Given the description of an element on the screen output the (x, y) to click on. 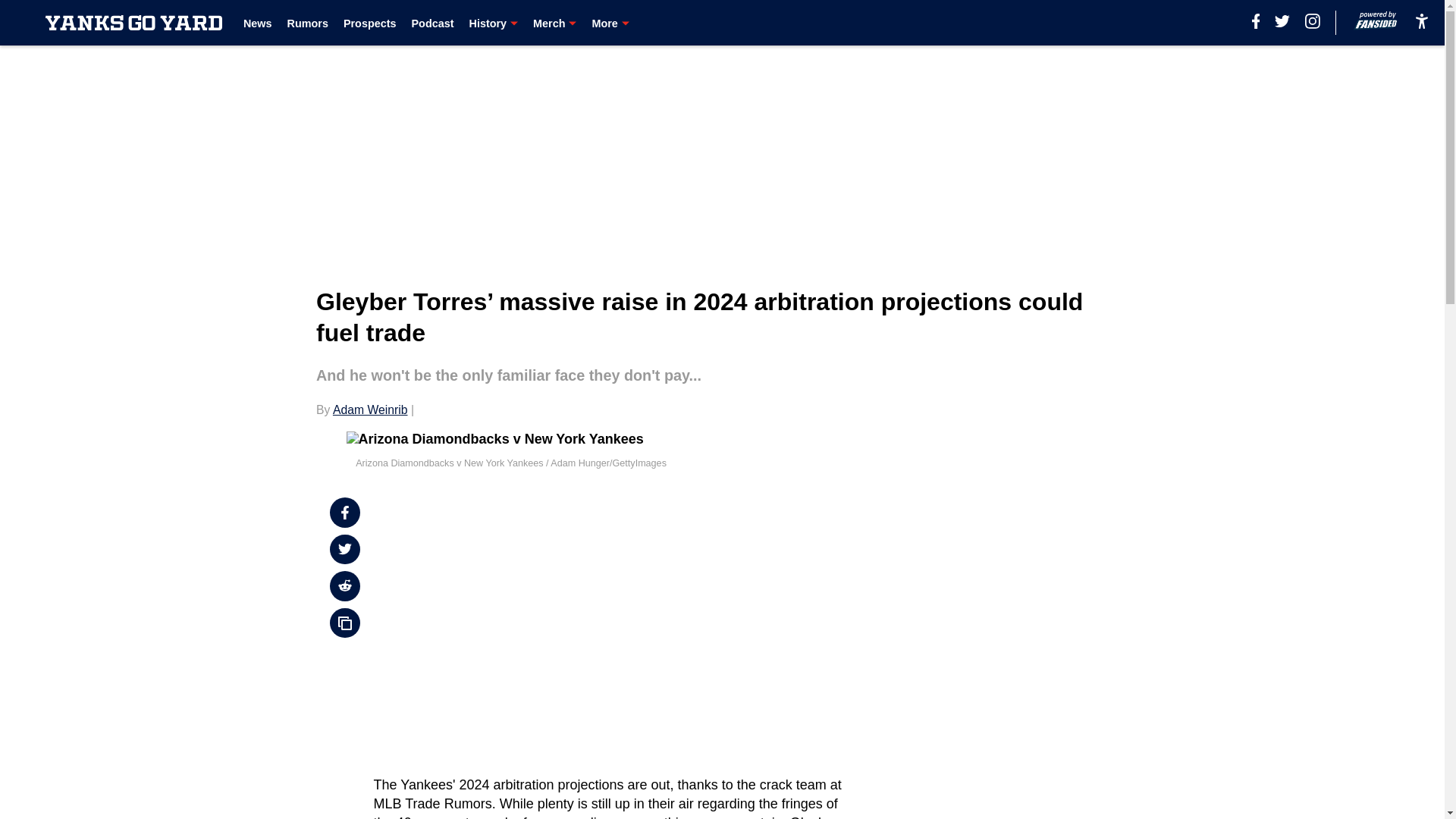
News (257, 23)
Podcast (431, 23)
Adam Weinrib (370, 409)
Prospects (369, 23)
Rumors (307, 23)
